Given the description of an element on the screen output the (x, y) to click on. 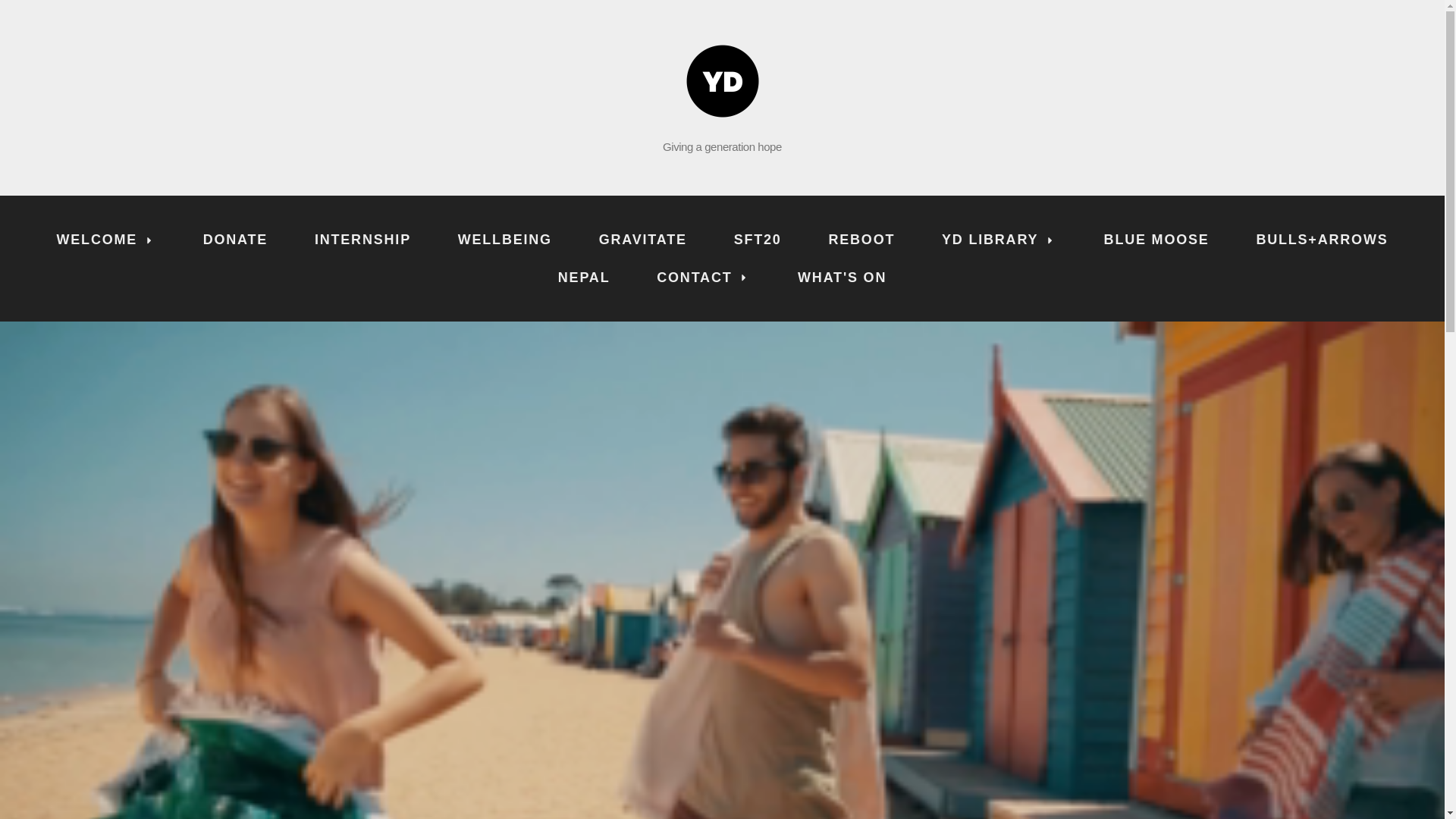
WHAT'S ON Element type: text (841, 276)
BLUE MOOSE Element type: text (1156, 239)
DONATE Element type: text (235, 239)
SFT20 Element type: text (757, 239)
CONTACT Element type: text (703, 276)
WELLBEING Element type: text (505, 239)
GRAVITATE Element type: text (643, 239)
INTERNSHIP Element type: text (362, 239)
REBOOT Element type: text (861, 239)
YD LIBRARY Element type: text (998, 239)
WELCOME Element type: text (106, 239)
BULLS+ARROWS Element type: text (1322, 239)
NEPAL Element type: text (583, 276)
